Given the description of an element on the screen output the (x, y) to click on. 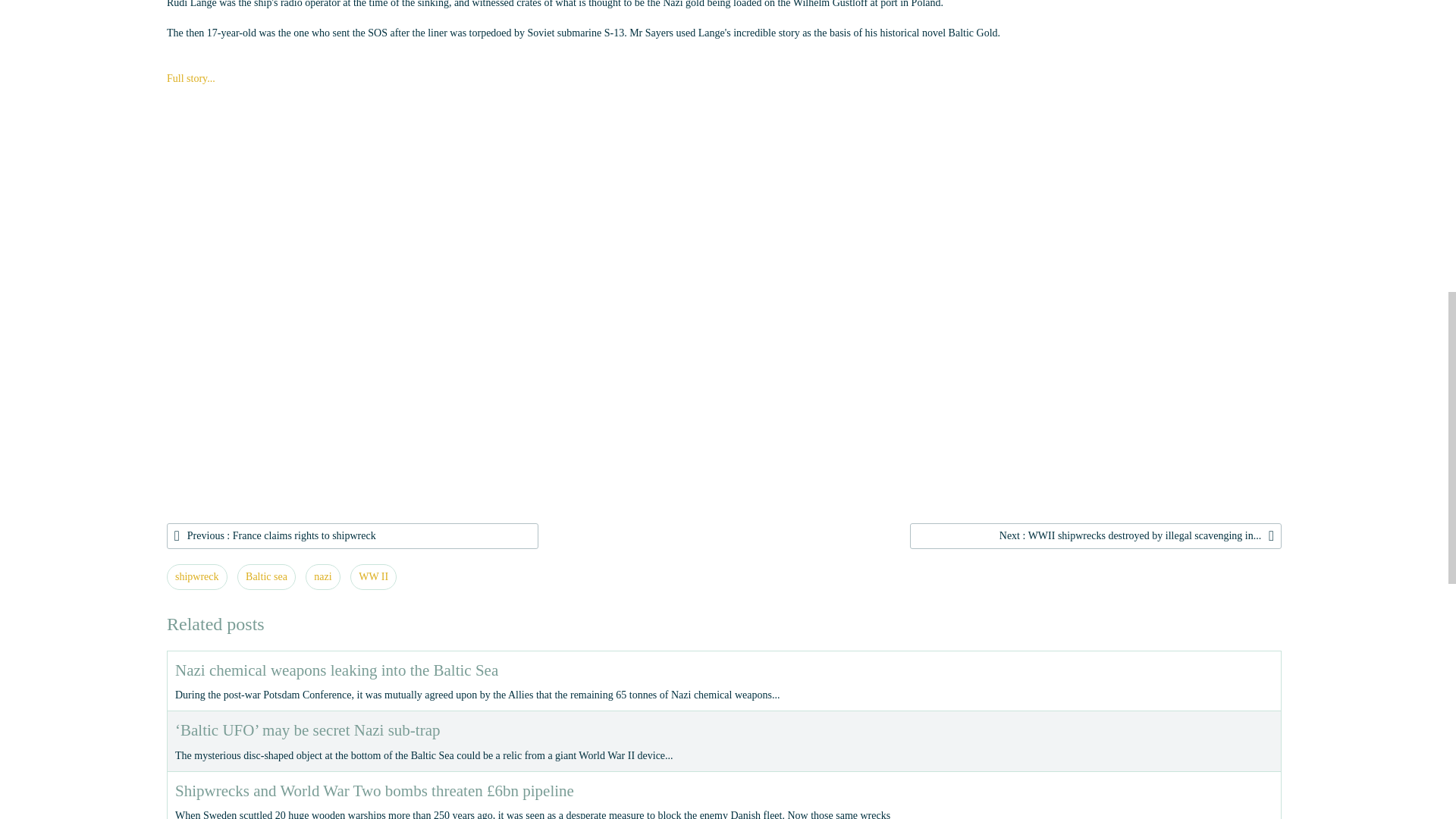
Baltic sea (266, 576)
Full story... (191, 78)
Nazi chemical weapons leaking into the Baltic Sea (335, 669)
nazi (322, 576)
shipwreck (197, 576)
Previous : France claims rights to shipwreck (352, 535)
Next : WWII shipwrecks destroyed by illegal scavenging in... (1095, 535)
WW II (373, 576)
